Given the description of an element on the screen output the (x, y) to click on. 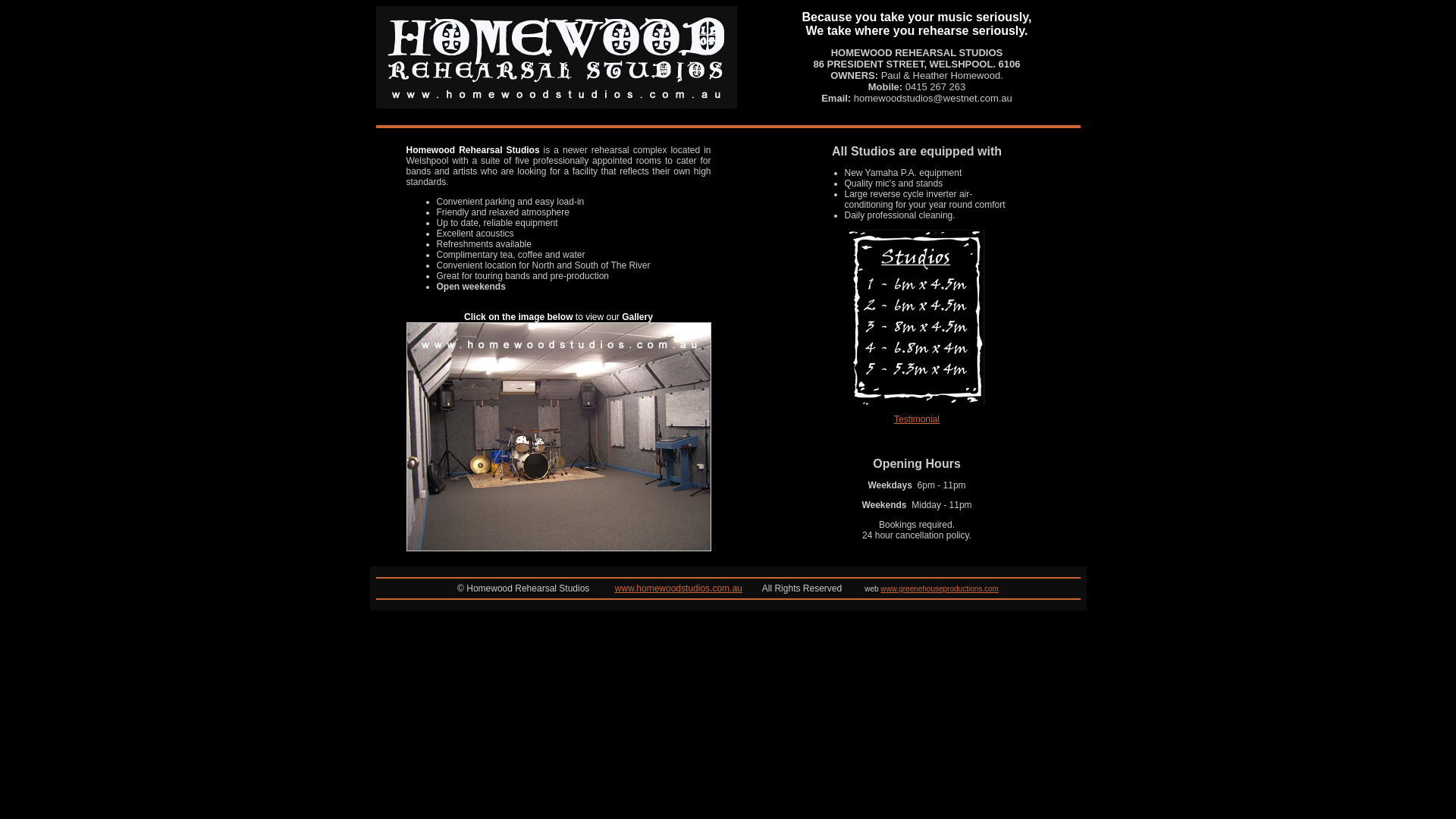
View Image Gallery Element type: hover (558, 547)
Testimonial Element type: text (916, 419)
www.greenehouseproductions.com Element type: text (939, 588)
www.homewoodstudios.com.au Element type: text (678, 588)
